Given the description of an element on the screen output the (x, y) to click on. 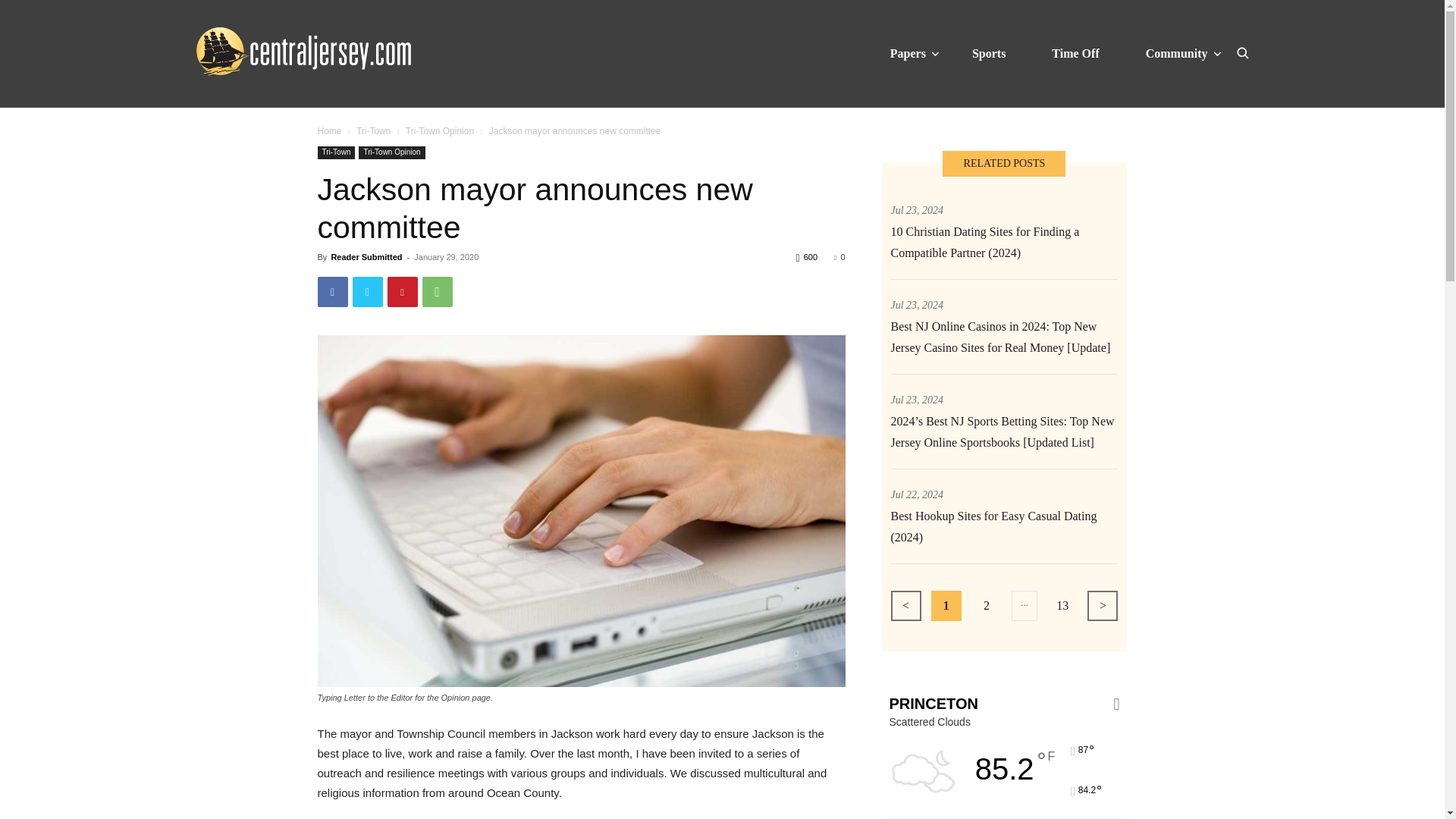
Tri-Town (336, 152)
Twitter (366, 291)
Time Off (1075, 52)
Tri-Town Opinion (440, 131)
Facebook (332, 291)
Home (328, 131)
View all posts in Tri-Town (373, 131)
Pinterest (401, 291)
WhatsApp (436, 291)
Sports (989, 52)
Reader Submitted (365, 256)
Papers (907, 52)
View all posts in Tri-Town Opinion (440, 131)
Tri-Town (373, 131)
0 (839, 256)
